Given the description of an element on the screen output the (x, y) to click on. 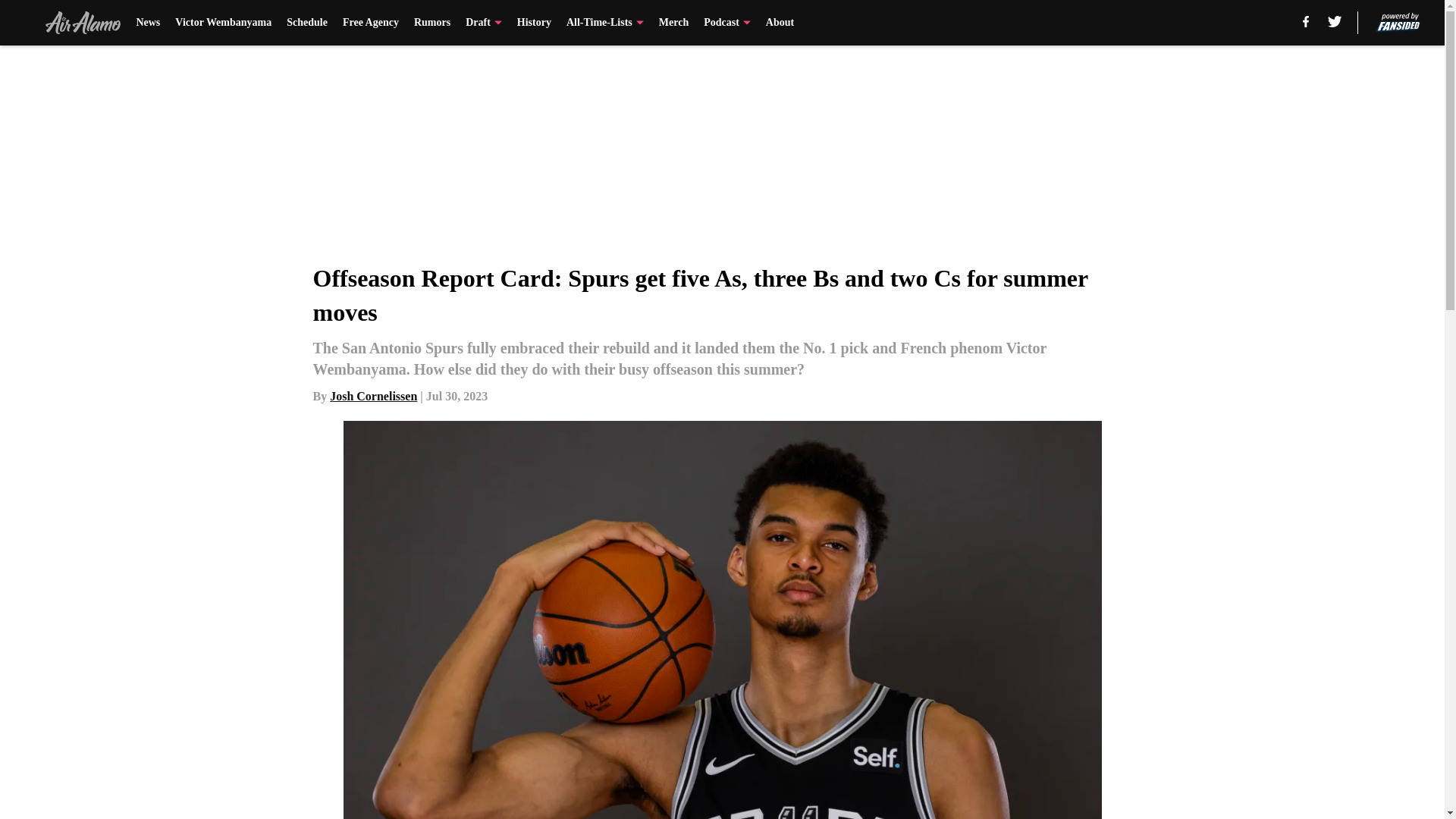
History (533, 22)
About (779, 22)
News (147, 22)
Josh Cornelissen (373, 395)
Victor Wembanyama (222, 22)
Schedule (306, 22)
Free Agency (370, 22)
Rumors (431, 22)
Merch (673, 22)
